Given the description of an element on the screen output the (x, y) to click on. 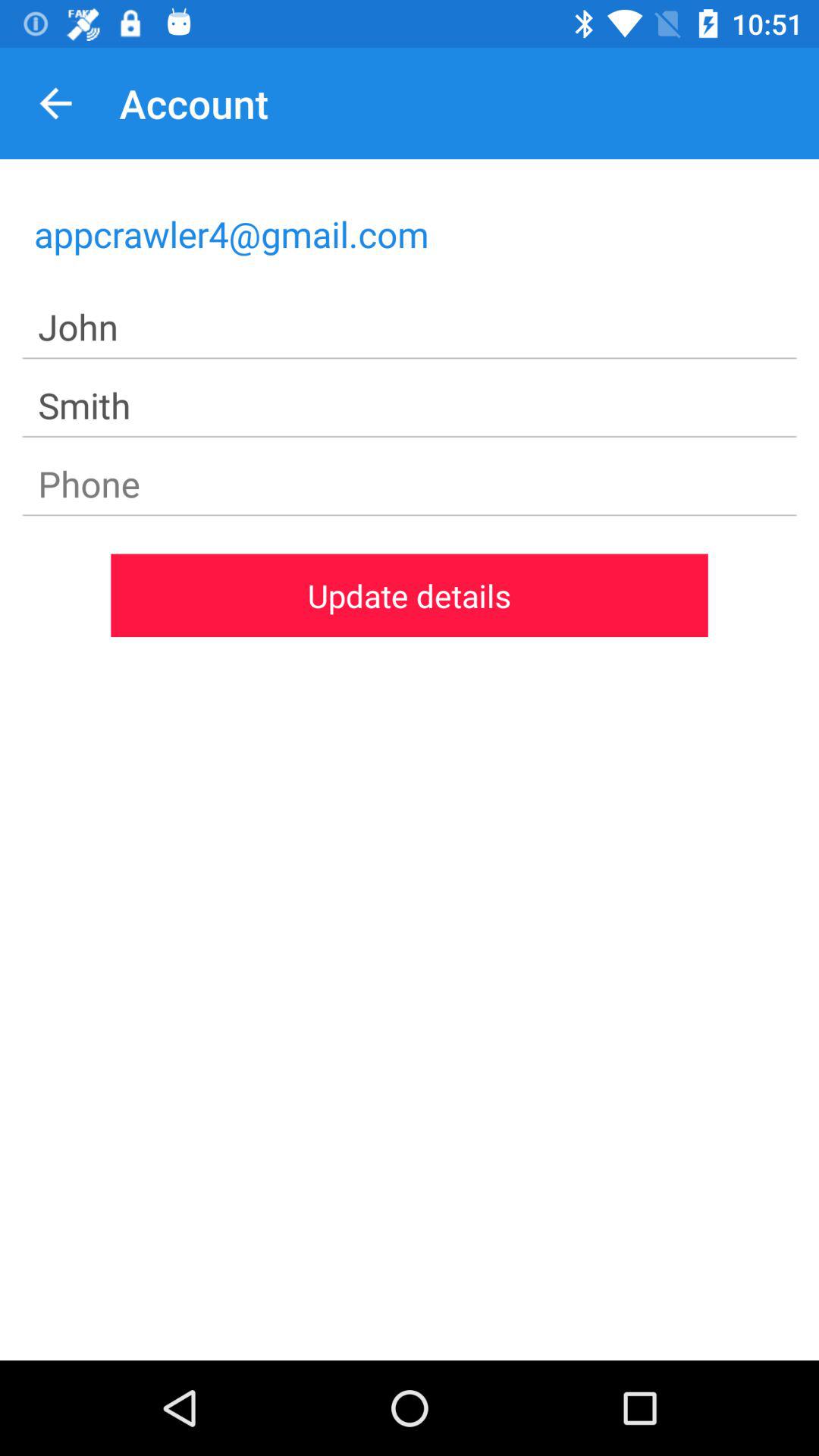
turn on icon below appcrawler4@gmail.com (409, 327)
